Given the description of an element on the screen output the (x, y) to click on. 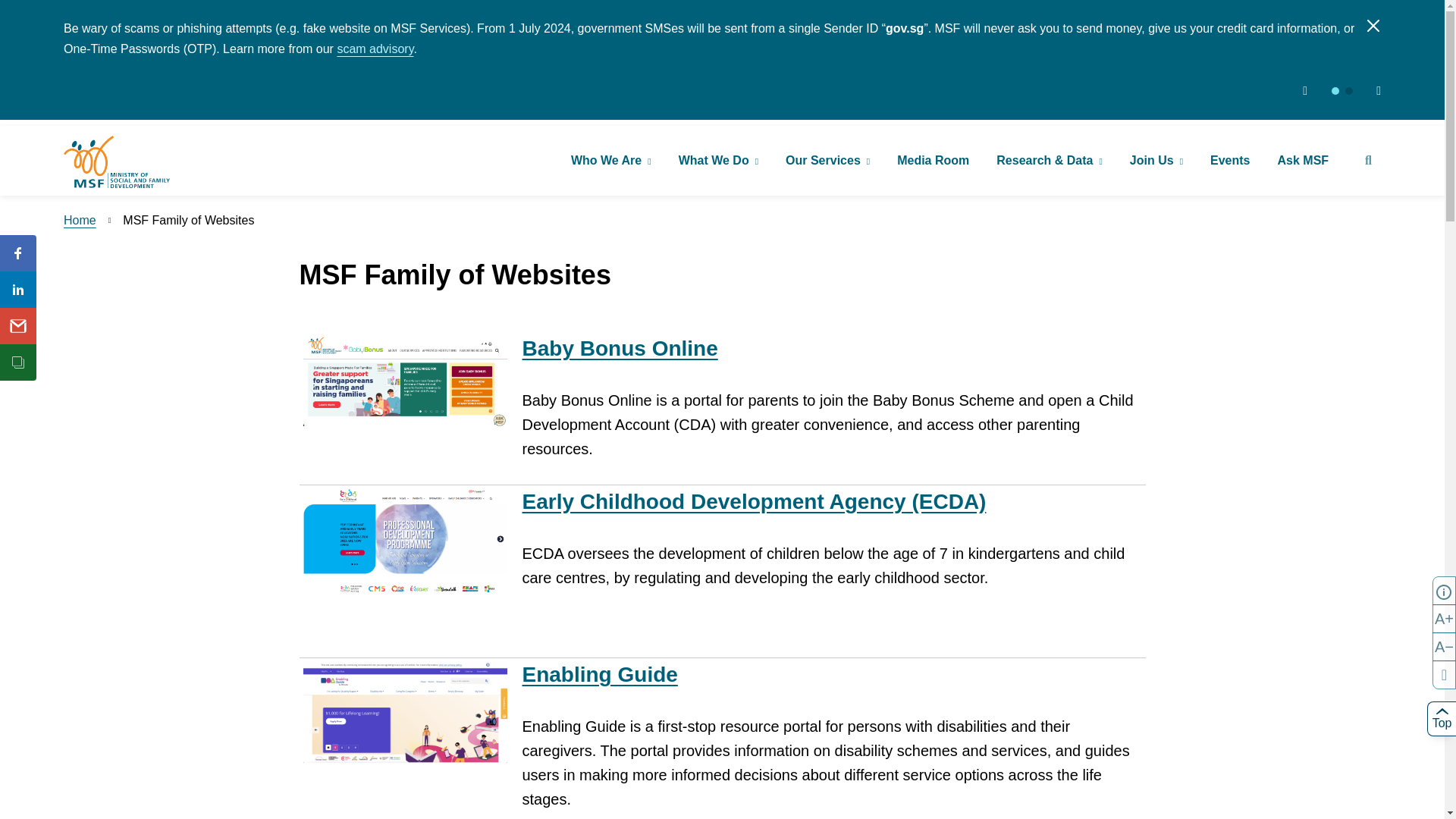
Baby Bonus Website (619, 348)
Baby Bonus Website (404, 380)
Enabling guide website (599, 674)
scam advisory (374, 48)
MSF logo (117, 161)
ECDA website (404, 543)
ECDA website (753, 501)
